Given the description of an element on the screen output the (x, y) to click on. 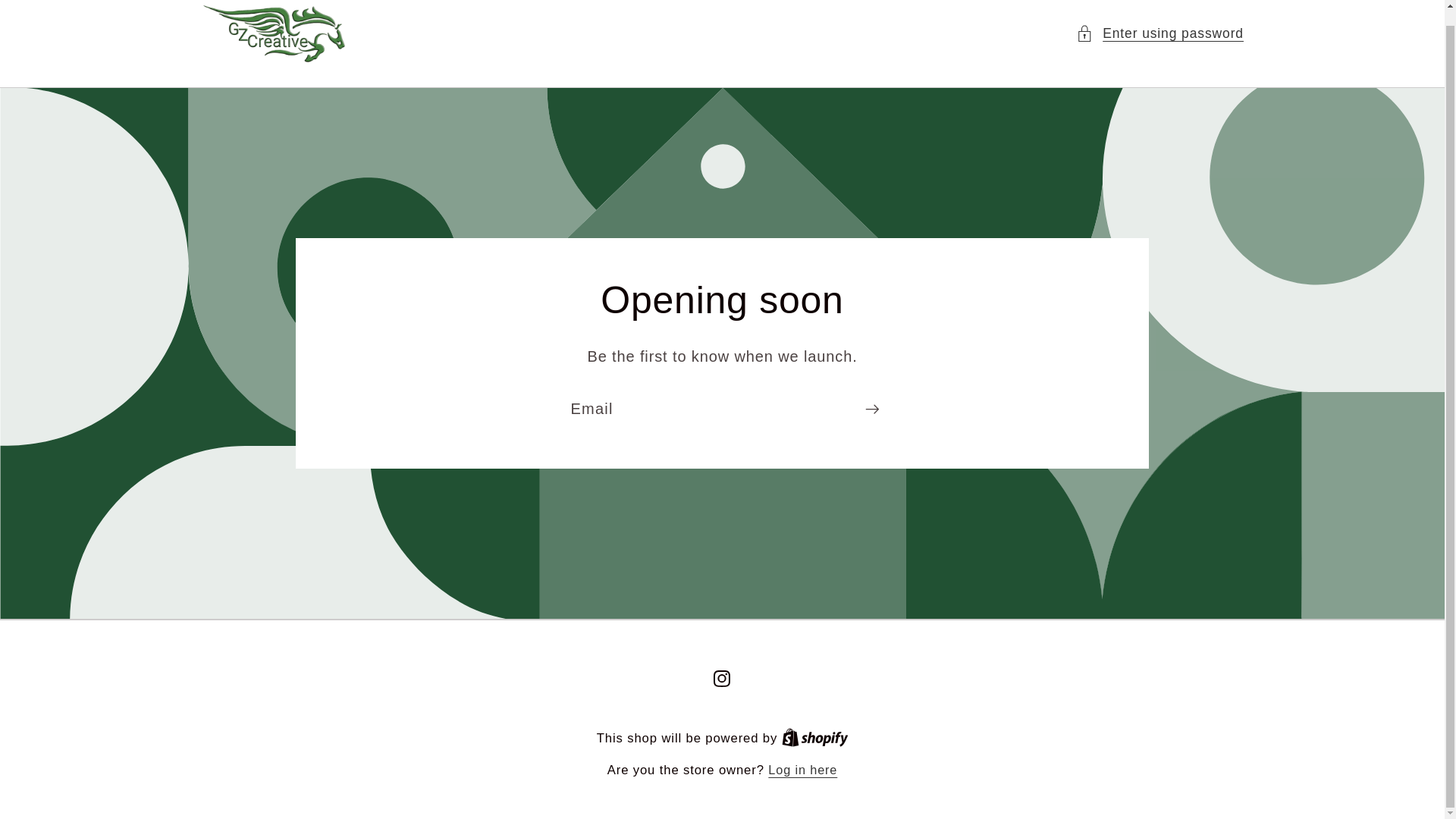
Log in here (802, 769)
Skip to content (60, 17)
Instagram (721, 679)
